Given the description of an element on the screen output the (x, y) to click on. 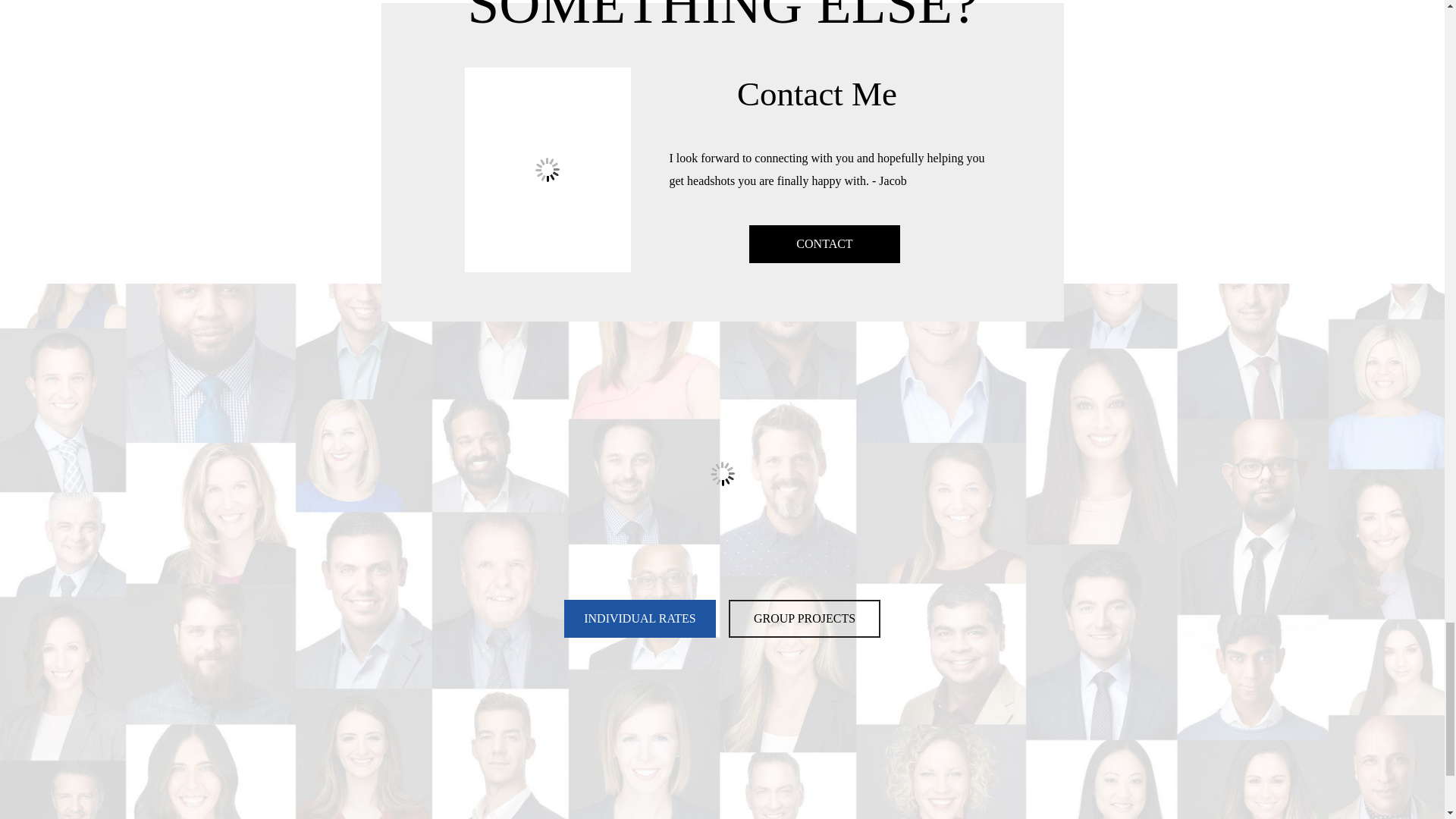
GROUP PROJECTS (804, 618)
INDIVIDUAL RATES (640, 618)
